Given the description of an element on the screen output the (x, y) to click on. 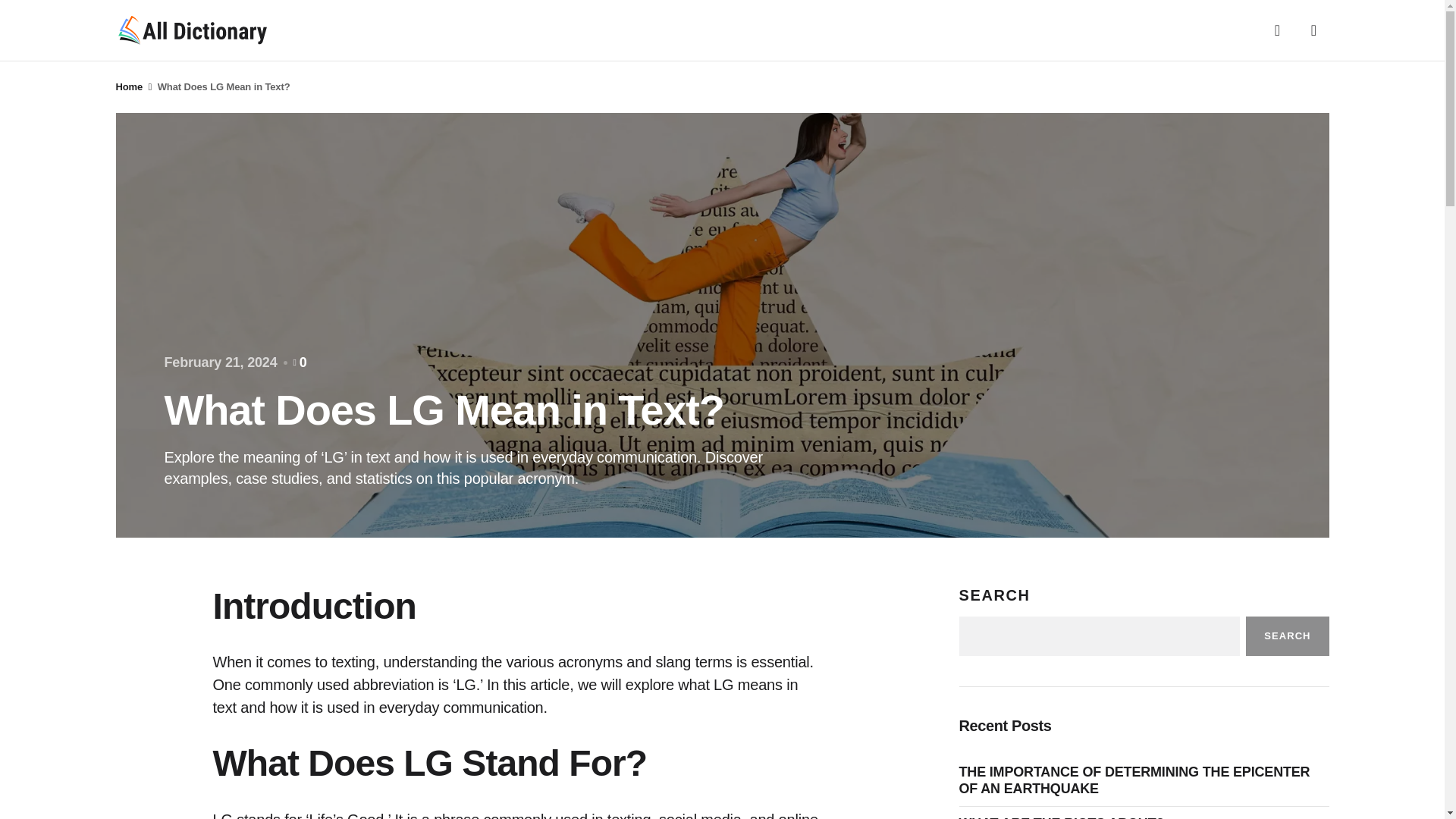
WHAT ARE THE RIOTS ABOUT? (1065, 817)
THE IMPORTANCE OF DETERMINING THE EPICENTER OF AN EARTHQUAKE (1142, 780)
Home (128, 86)
SEARCH (1286, 636)
